Given the description of an element on the screen output the (x, y) to click on. 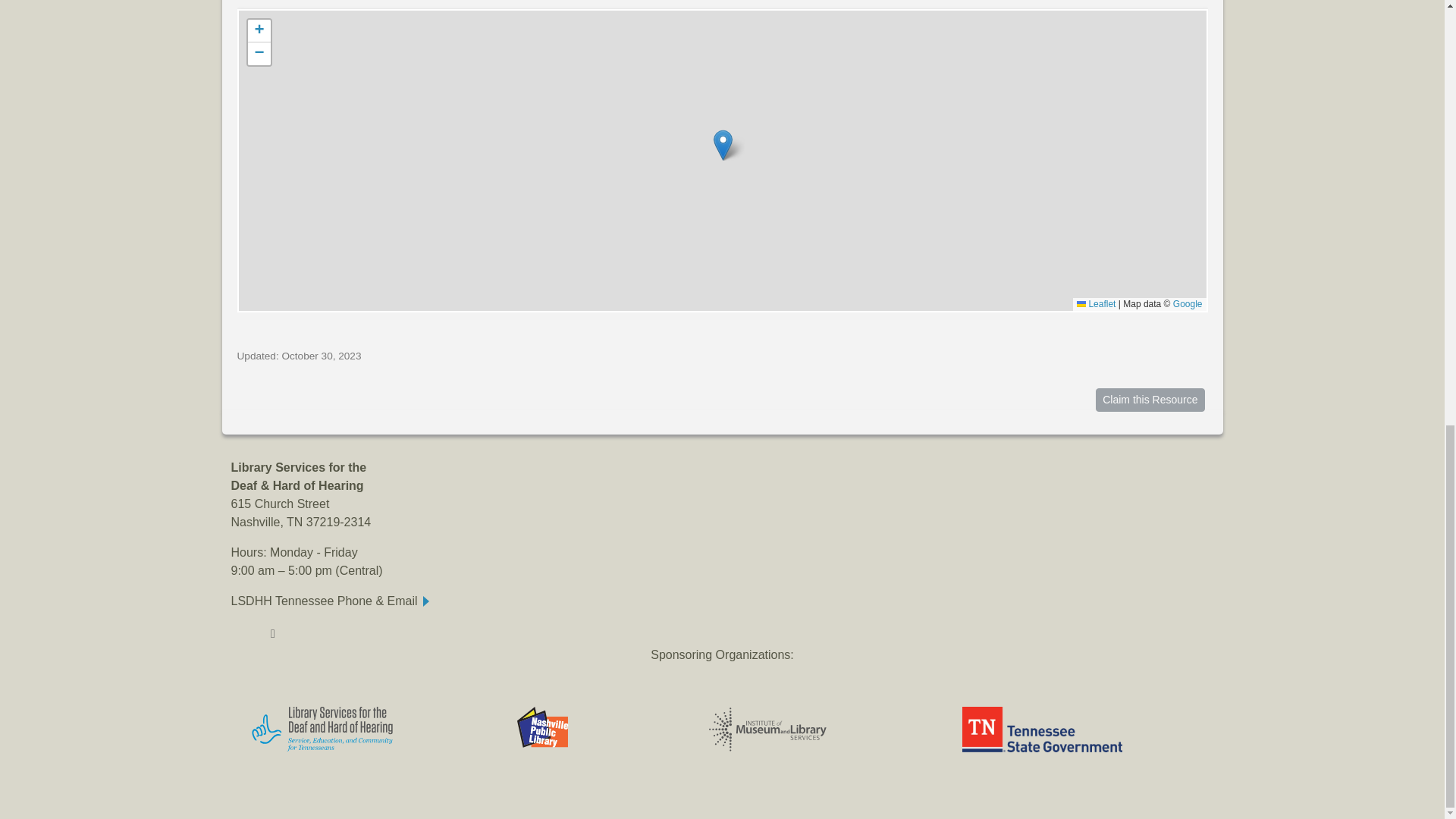
A JavaScript library for interactive maps (1096, 303)
Zoom out (258, 53)
Zoom in (258, 30)
